Given the description of an element on the screen output the (x, y) to click on. 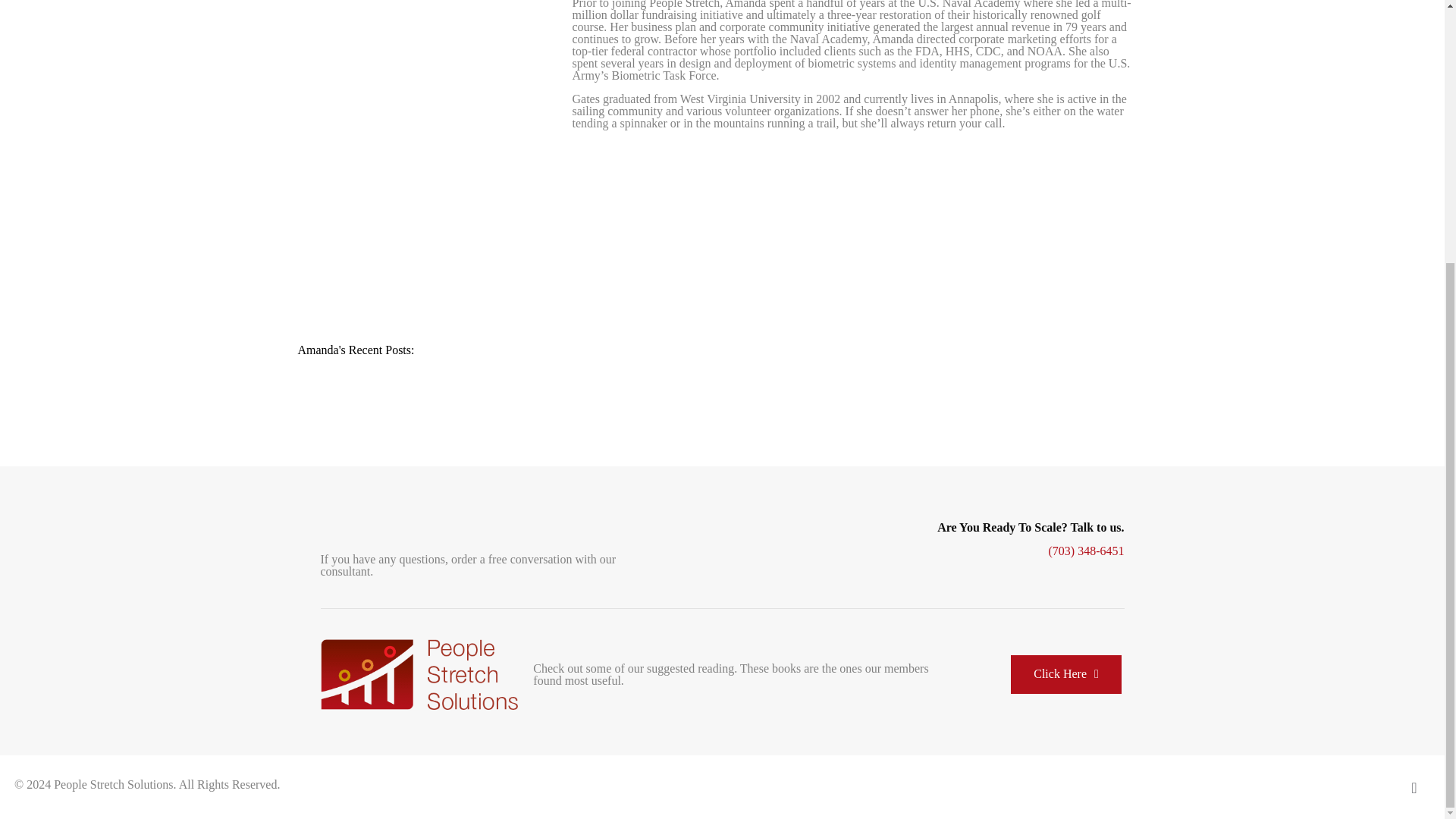
Click Here (1065, 674)
